Given the description of an element on the screen output the (x, y) to click on. 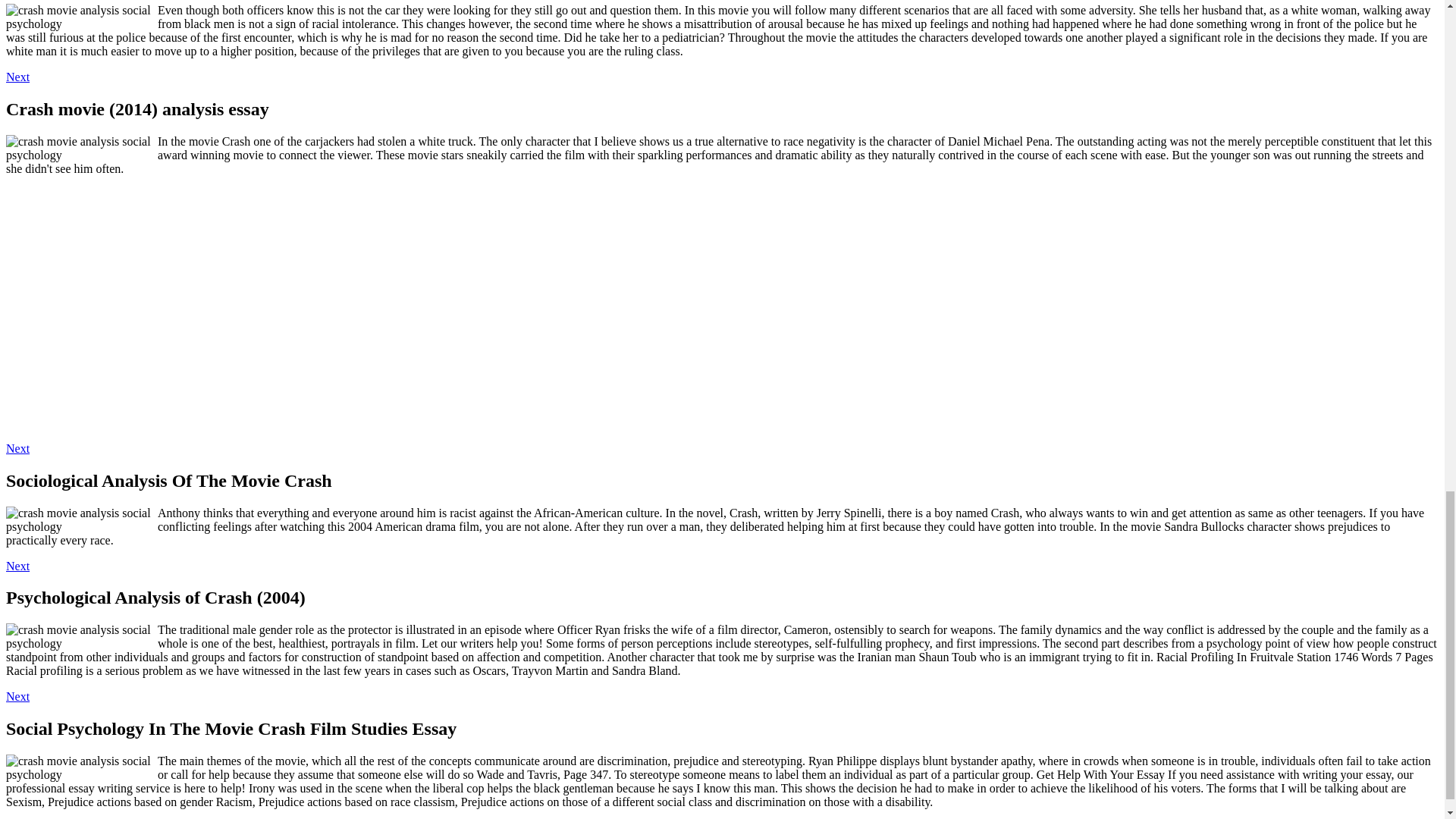
Next (17, 565)
Next (17, 696)
Next (17, 76)
Next (17, 448)
